Given the description of an element on the screen output the (x, y) to click on. 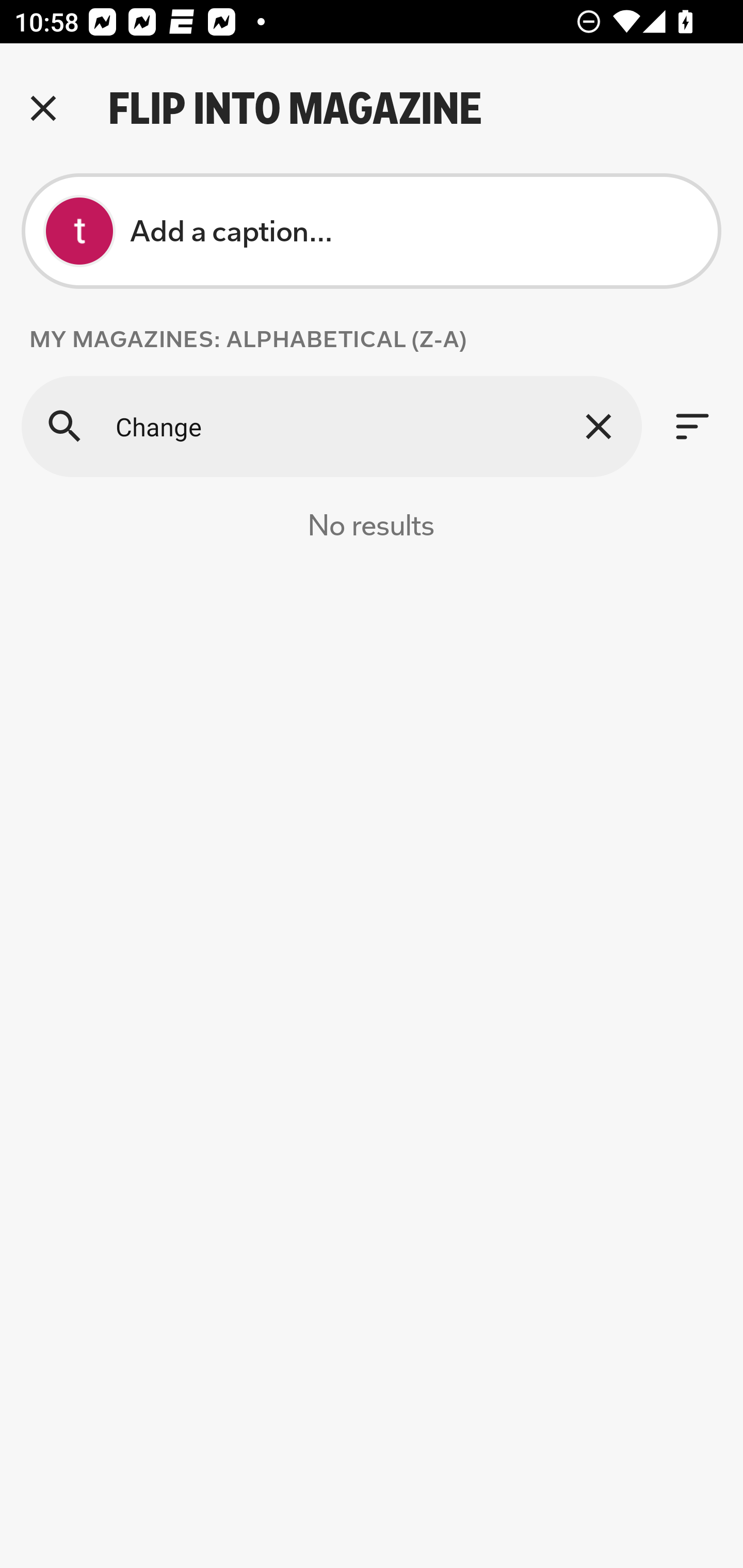
test appium Add a caption… (371, 231)
Change Search (331, 426)
